Given the description of an element on the screen output the (x, y) to click on. 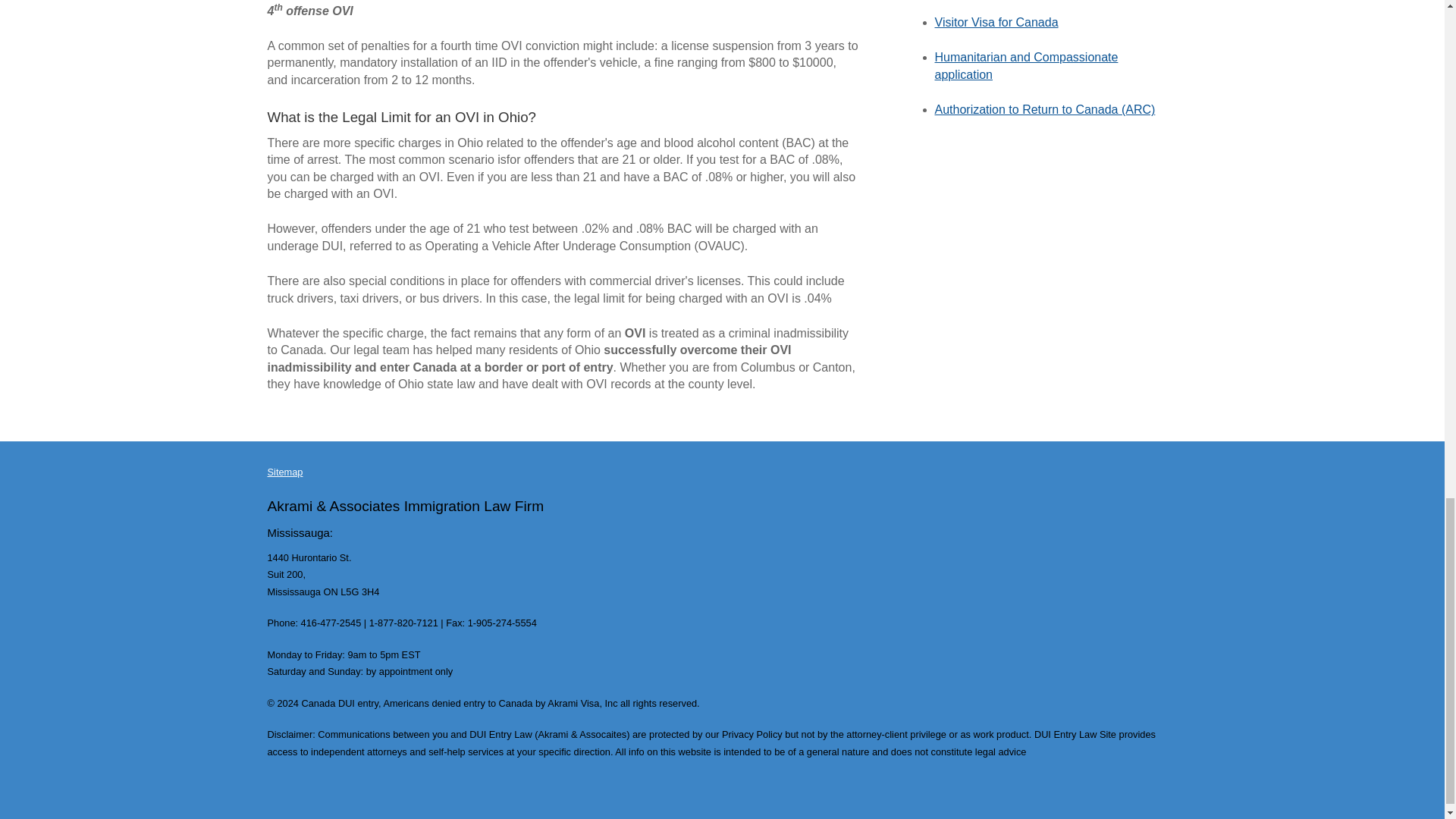
Sitemap (284, 471)
Humanitarian and Compassionate application (1026, 65)
Visitor Visa for Canada (996, 21)
